Given the description of an element on the screen output the (x, y) to click on. 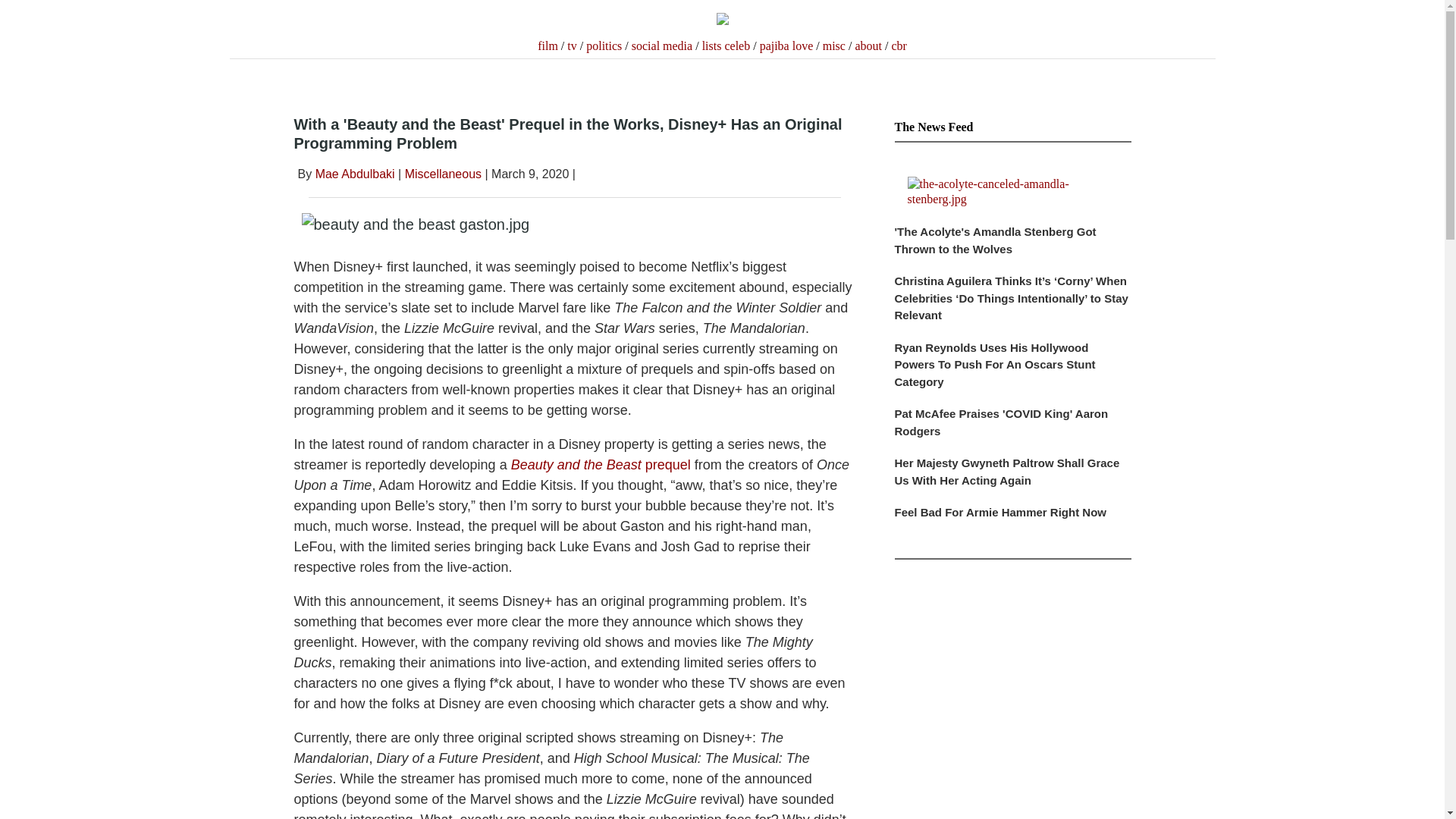
celeb (736, 45)
cbr (898, 45)
Feel Bad For Armie Hammer Right Now (1013, 519)
about (868, 45)
Pat McAfee Praises 'COVID King' Aaron Rodgers (1013, 429)
lists (711, 45)
pajiba love (786, 45)
politics (603, 45)
Miscellaneous (442, 173)
